Given the description of an element on the screen output the (x, y) to click on. 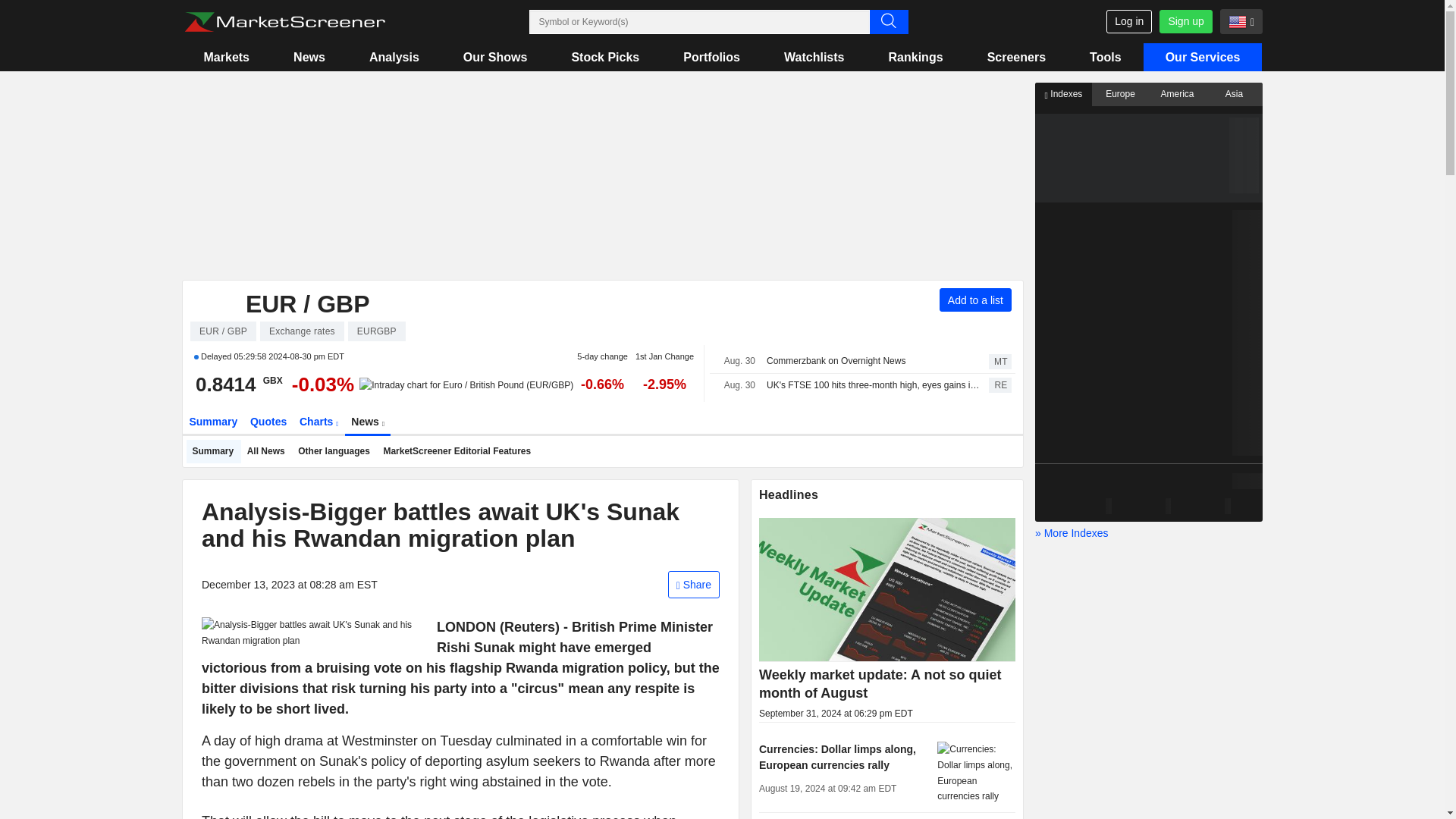
Log in (1128, 21)
Sign up (1184, 21)
Advanced search (888, 21)
Marketscreener: stock market and financial news (284, 21)
Markets (226, 57)
